Given the description of an element on the screen output the (x, y) to click on. 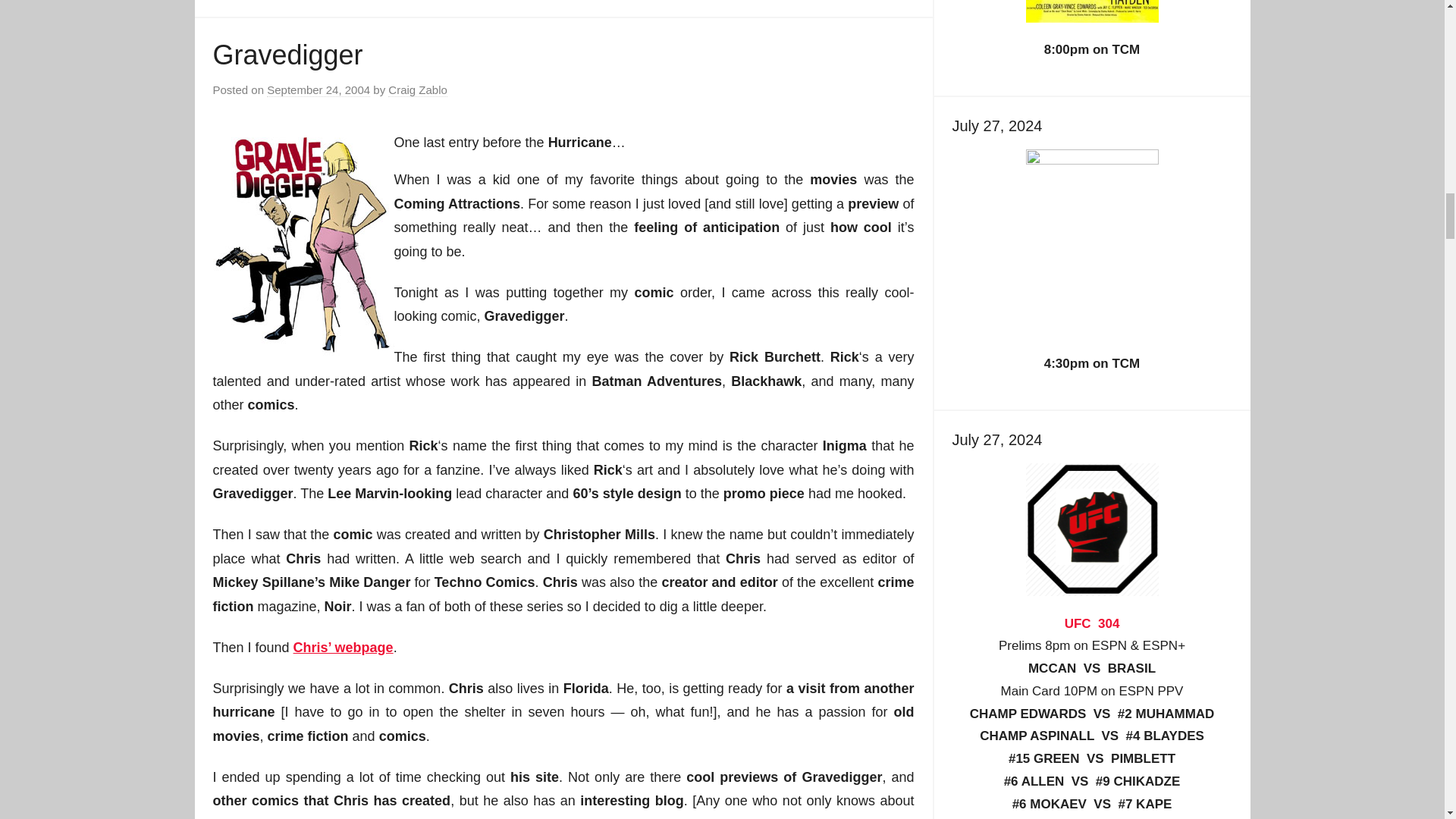
View all posts by Craig Zablo (417, 90)
